Given the description of an element on the screen output the (x, y) to click on. 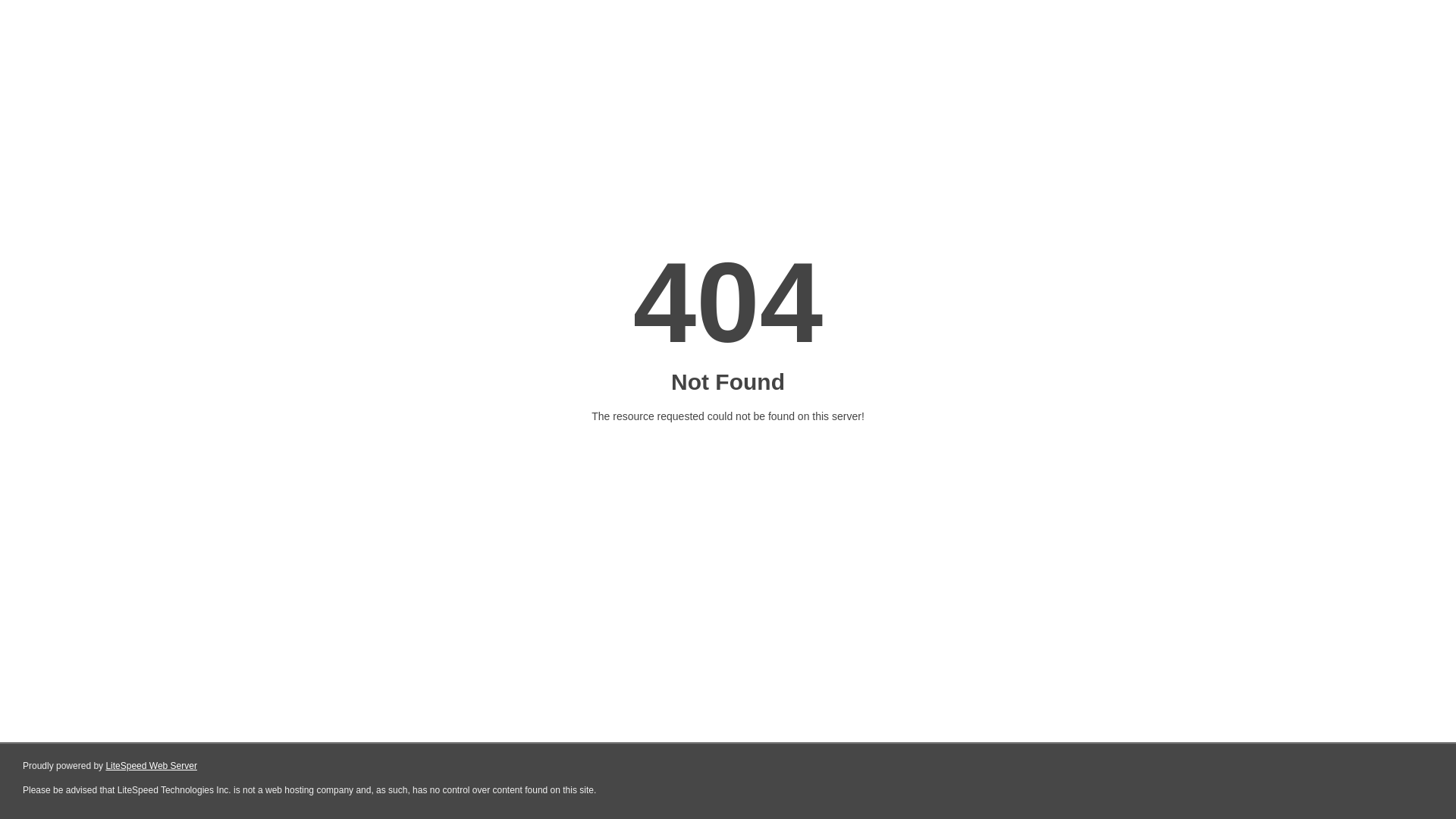
LiteSpeed Web Server Element type: text (151, 765)
